Given the description of an element on the screen output the (x, y) to click on. 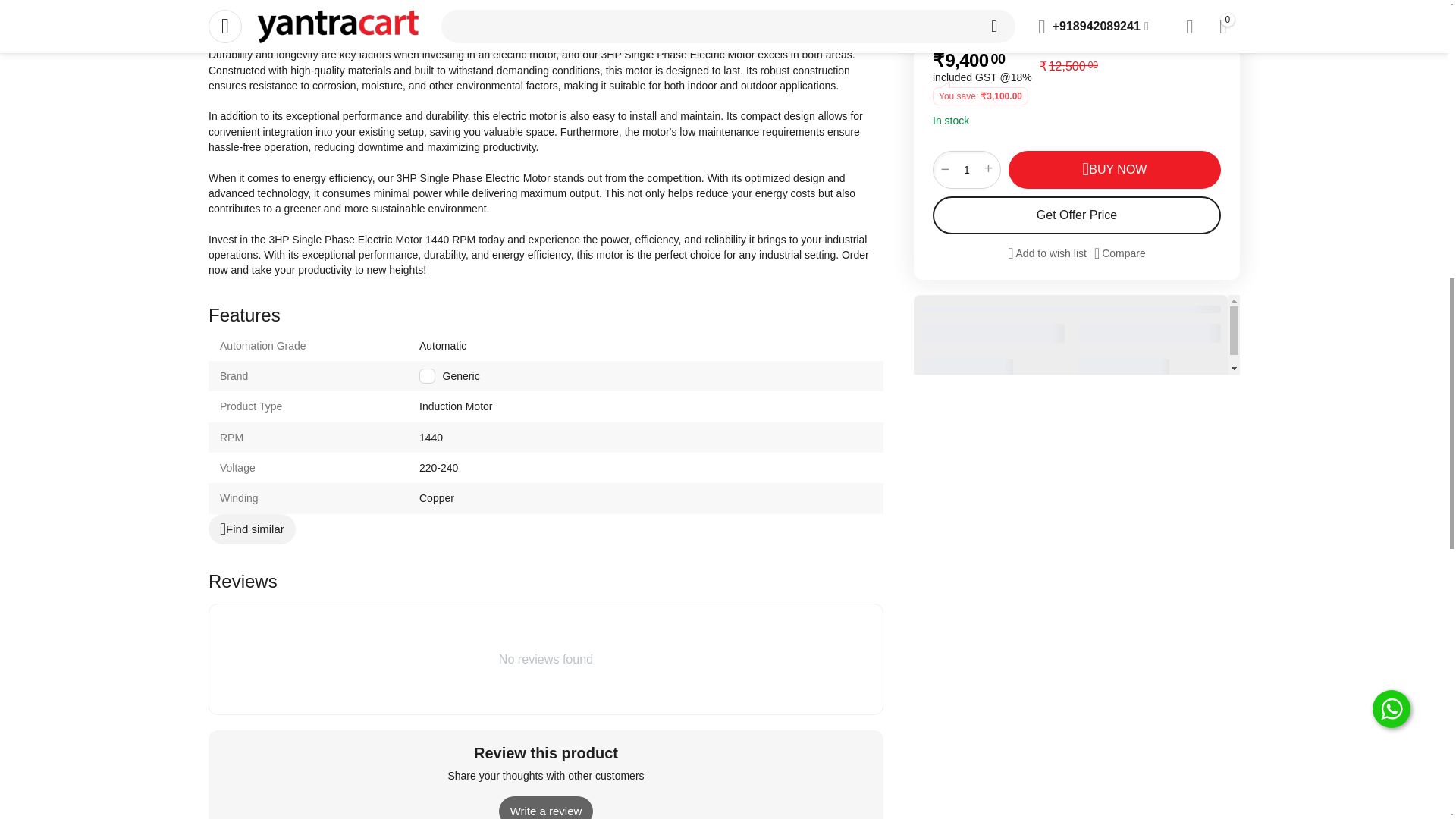
1206 (427, 376)
